Given the description of an element on the screen output the (x, y) to click on. 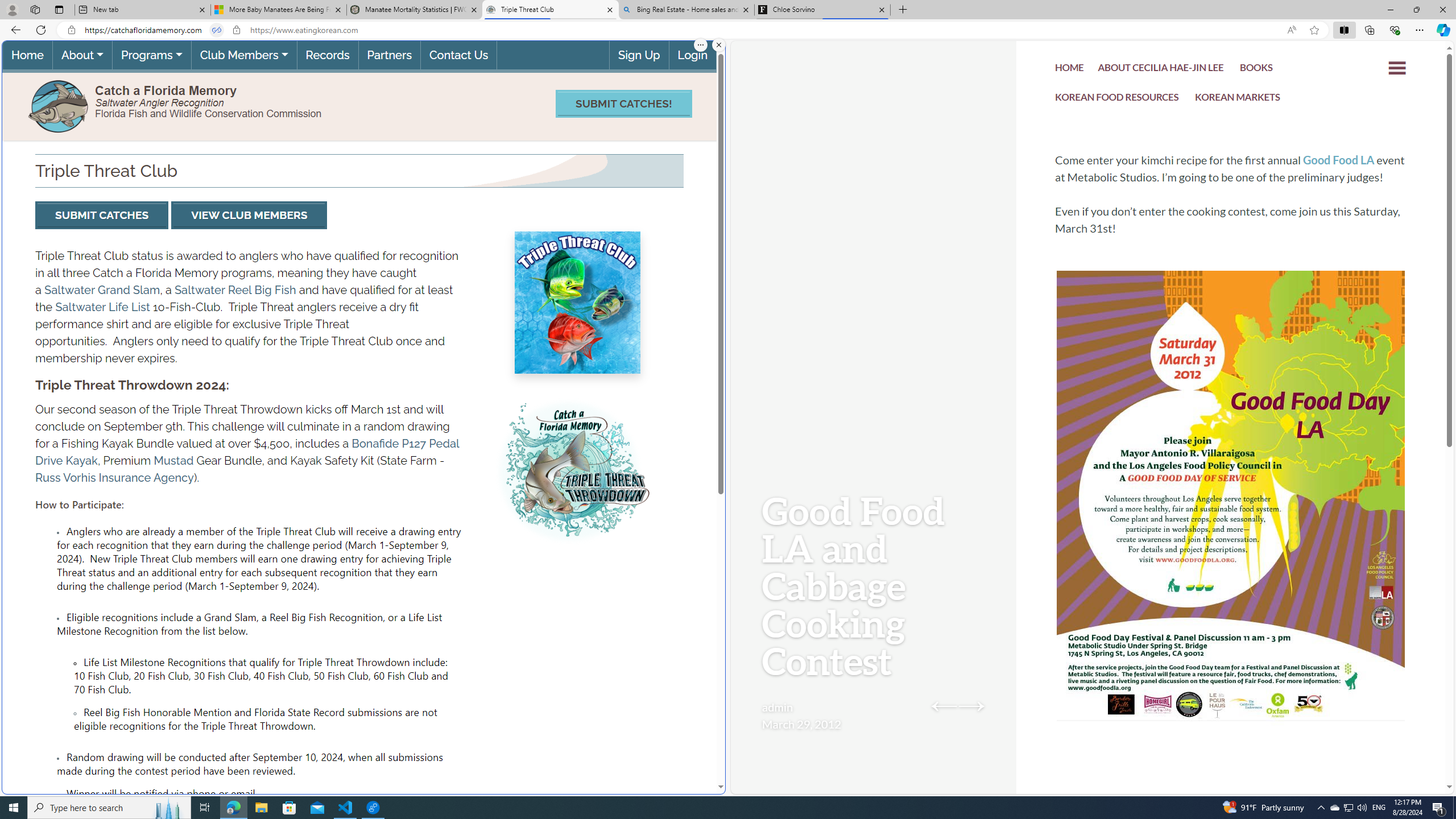
More options. (700, 45)
Partners (389, 54)
Saltwater Life List (102, 306)
View site information (236, 29)
Good Food LA (1338, 160)
Tab actions menu (58, 9)
KOREAN FOOD RESOURCES (1117, 99)
About (82, 54)
Back (13, 29)
Split screen (1344, 29)
Club Members (243, 54)
Login (692, 54)
